Given the description of an element on the screen output the (x, y) to click on. 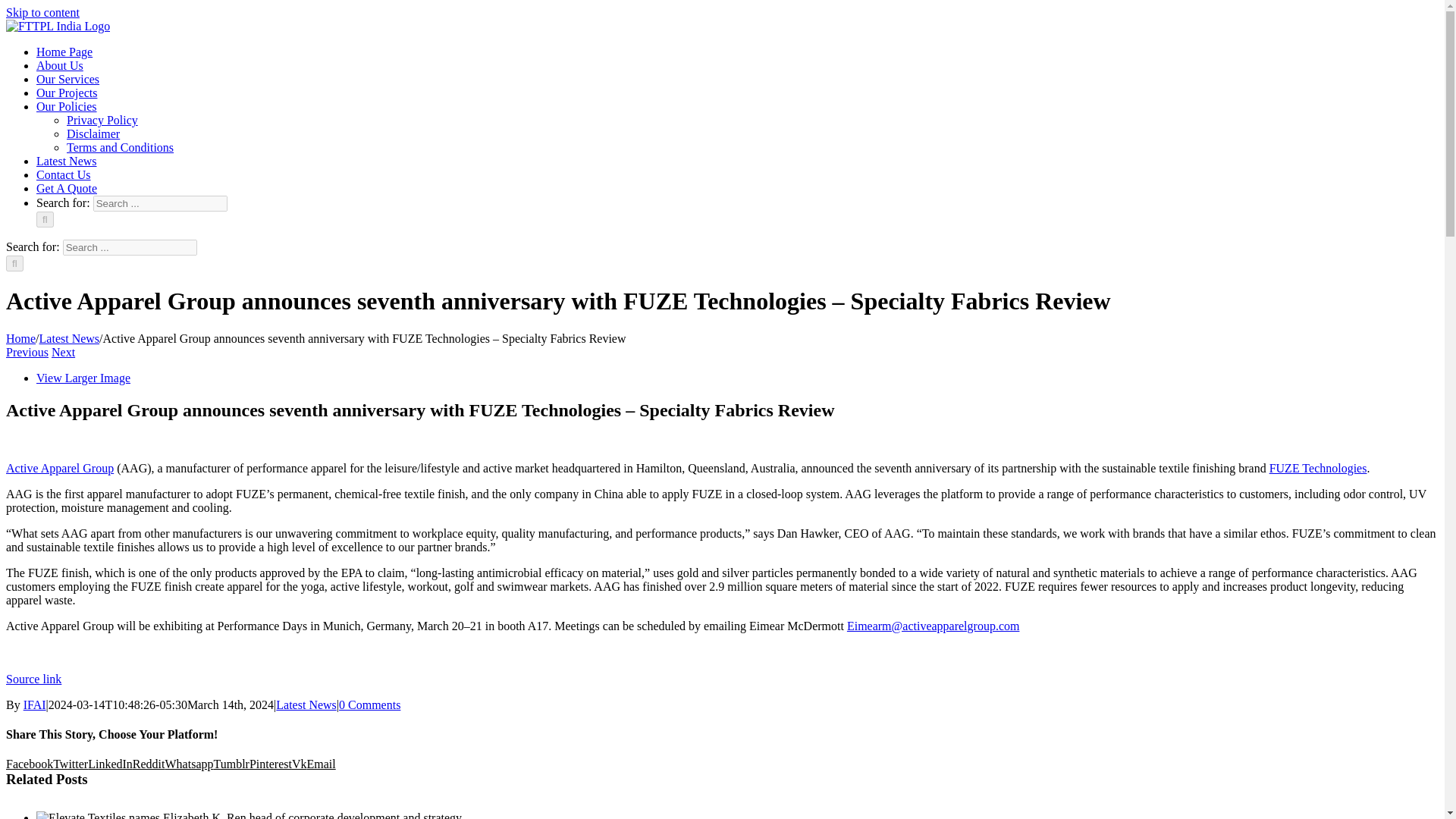
Active Apparel Group (59, 468)
Latest News (306, 704)
Pinterest (270, 763)
LinkedIn (109, 763)
Email (319, 763)
Privacy Policy (102, 119)
Twitter (69, 763)
Posts by IFAI (34, 704)
Vk (299, 763)
Contact Us (63, 174)
